Given the description of an element on the screen output the (x, y) to click on. 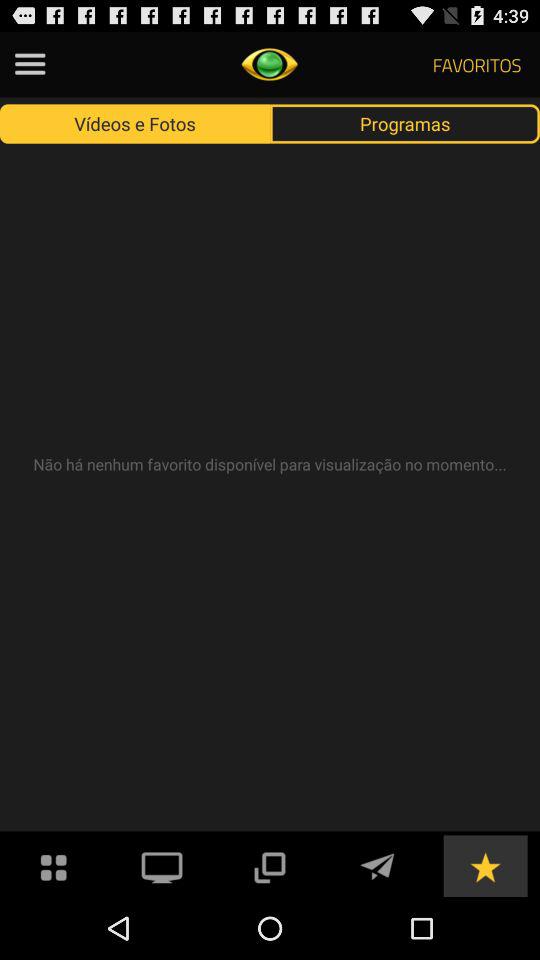
make this a favorite (485, 865)
